Given the description of an element on the screen output the (x, y) to click on. 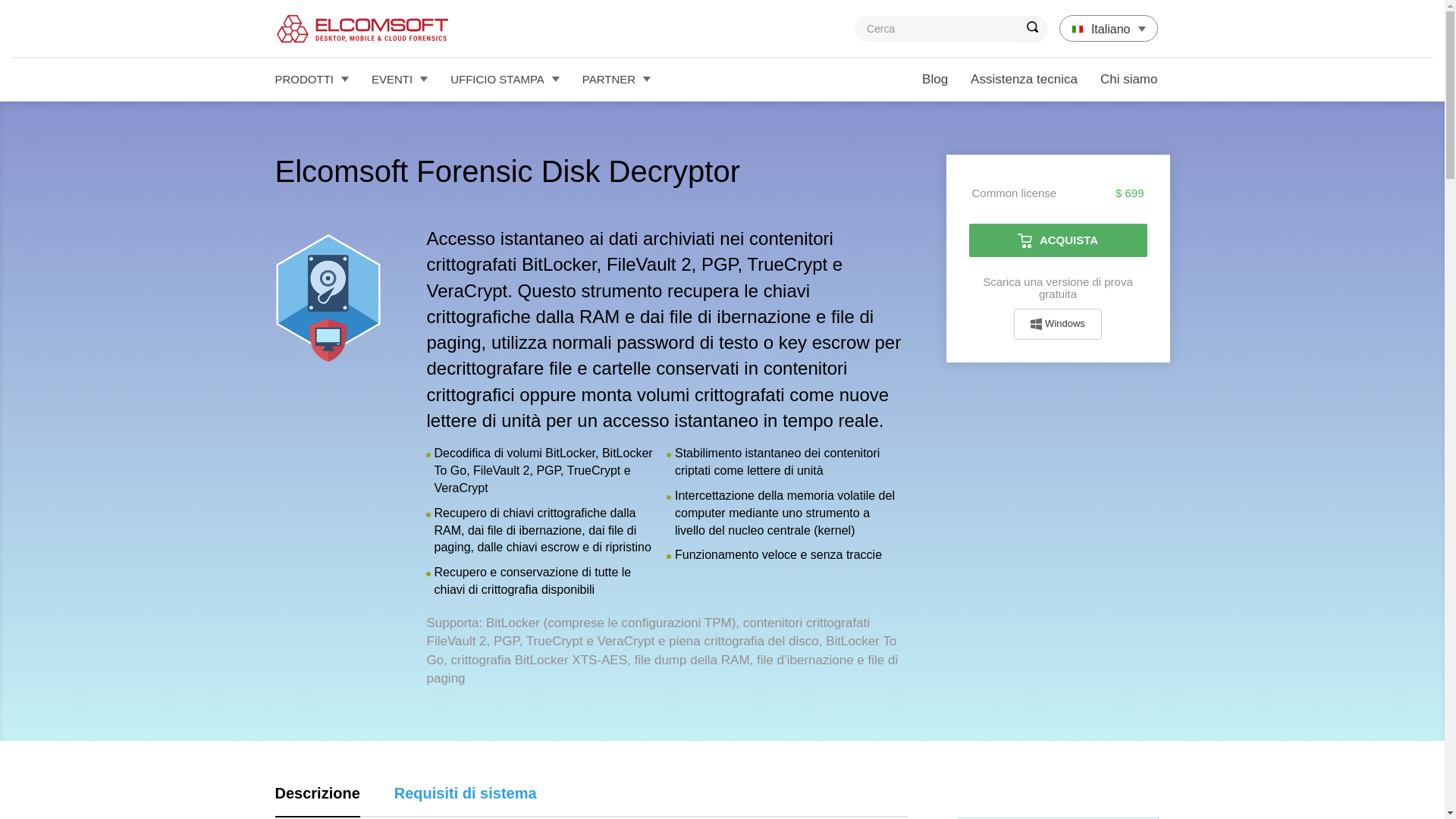
PRODOTTI (312, 78)
PARTNER (616, 78)
Italiano (1108, 28)
EVENTI (399, 78)
UFFICIO STAMPA (504, 78)
